Given the description of an element on the screen output the (x, y) to click on. 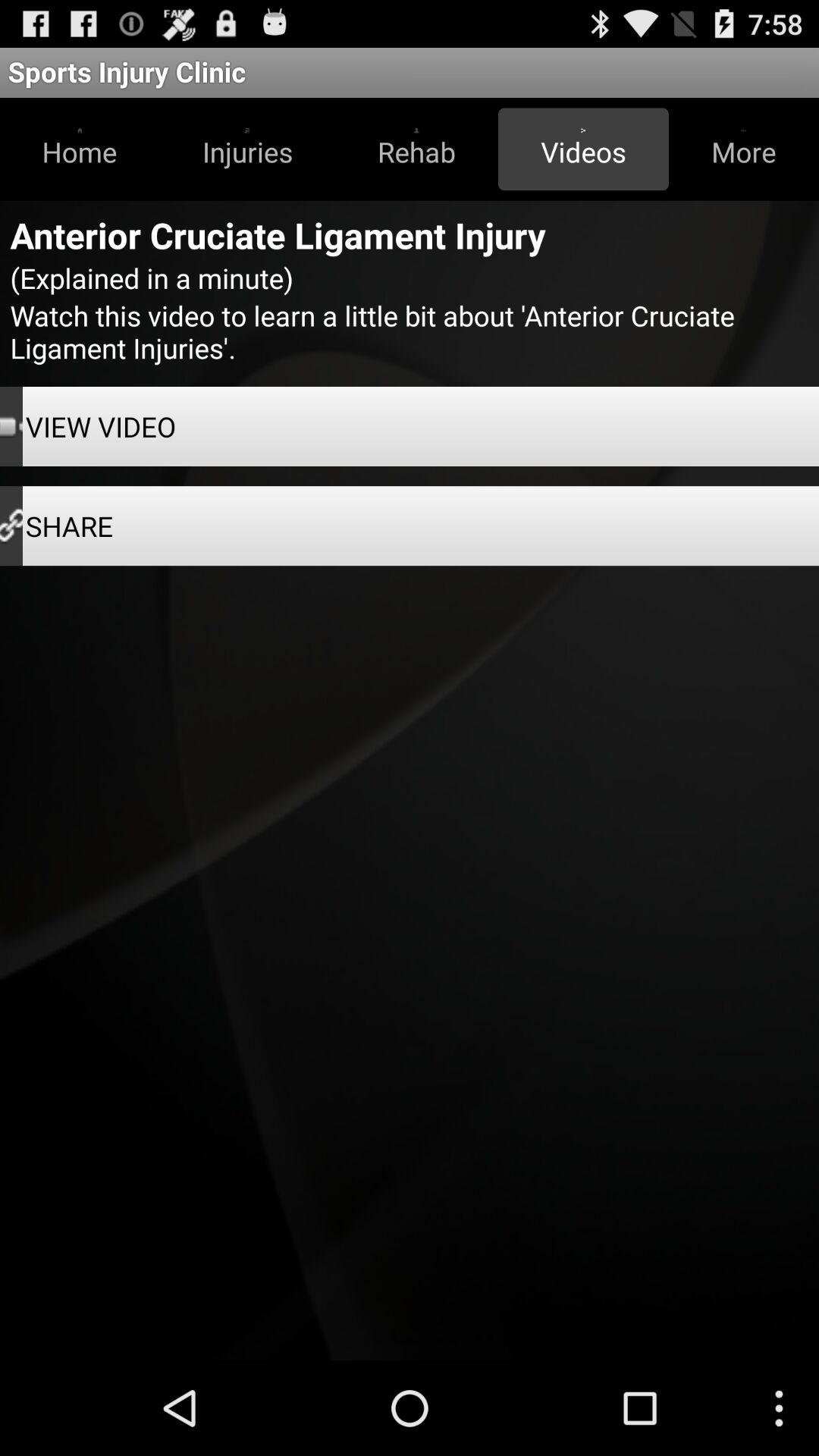
open item above watch this video item (743, 149)
